Given the description of an element on the screen output the (x, y) to click on. 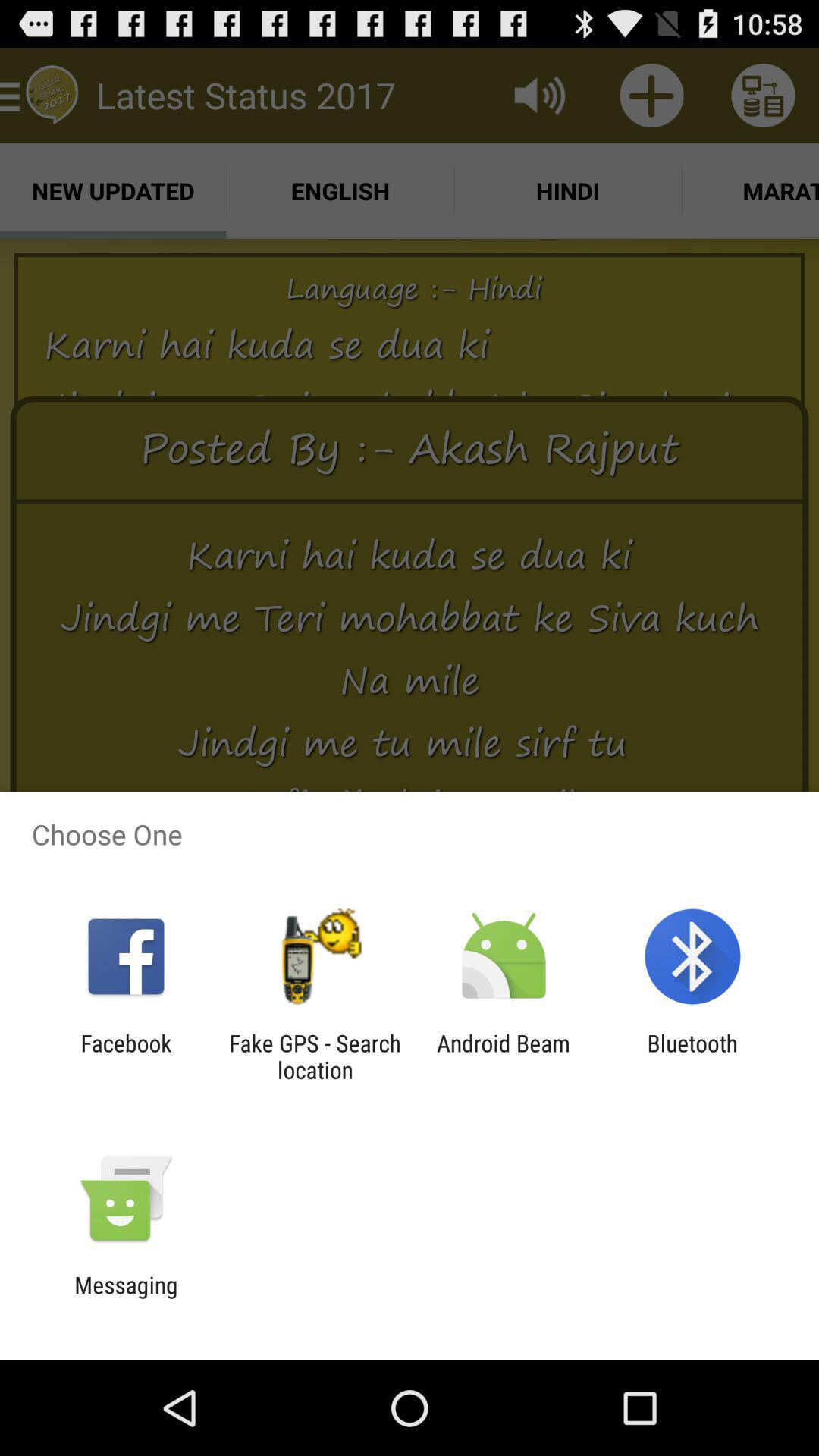
turn on fake gps search (314, 1056)
